Given the description of an element on the screen output the (x, y) to click on. 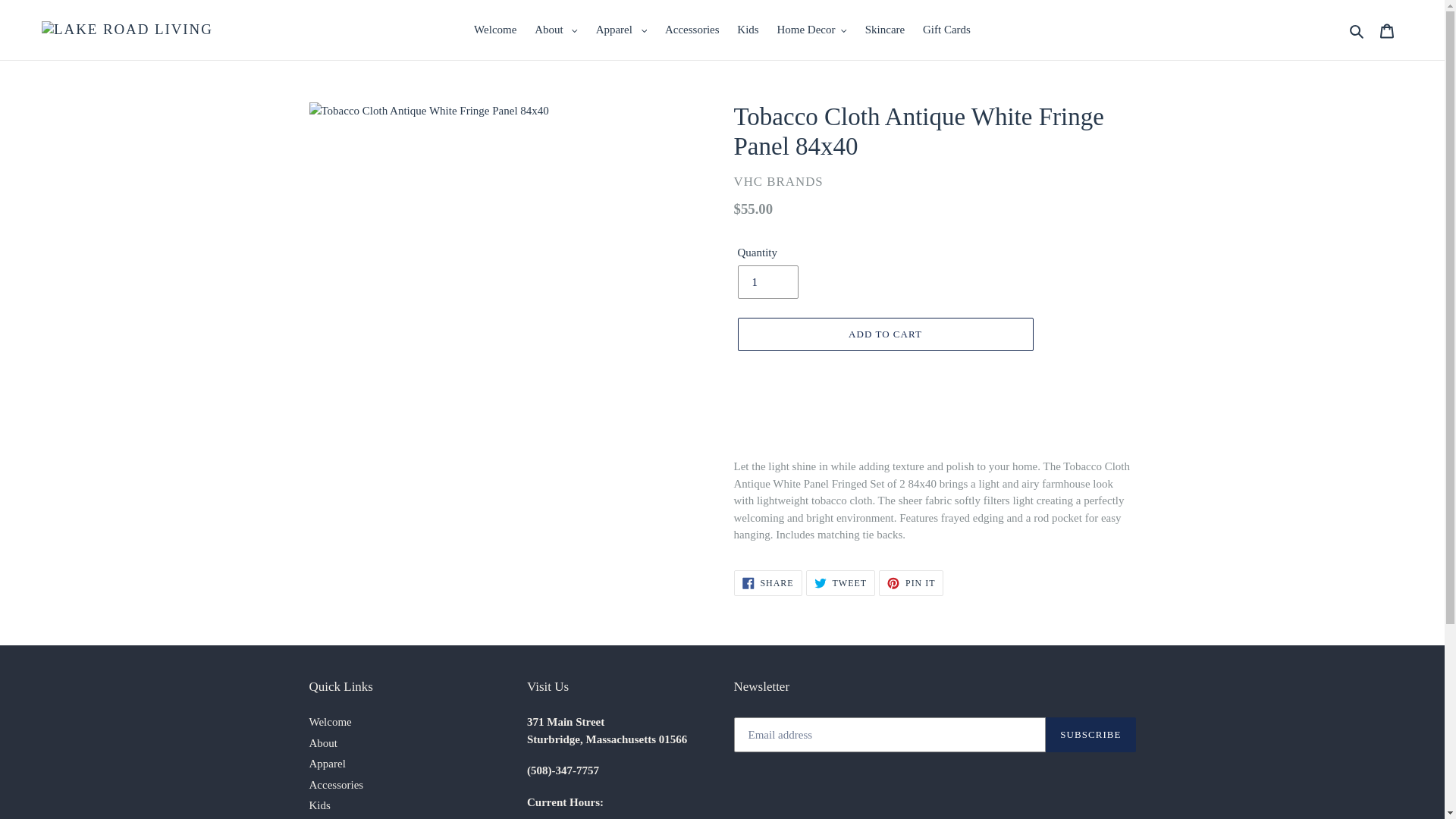
Cart (1387, 29)
1 (766, 281)
Skincare (884, 29)
Home Decor (811, 29)
Gift Cards (946, 29)
Kids (747, 29)
Search (1357, 29)
Apparel (621, 29)
Welcome (494, 29)
About (556, 29)
Accessories (692, 29)
